Given the description of an element on the screen output the (x, y) to click on. 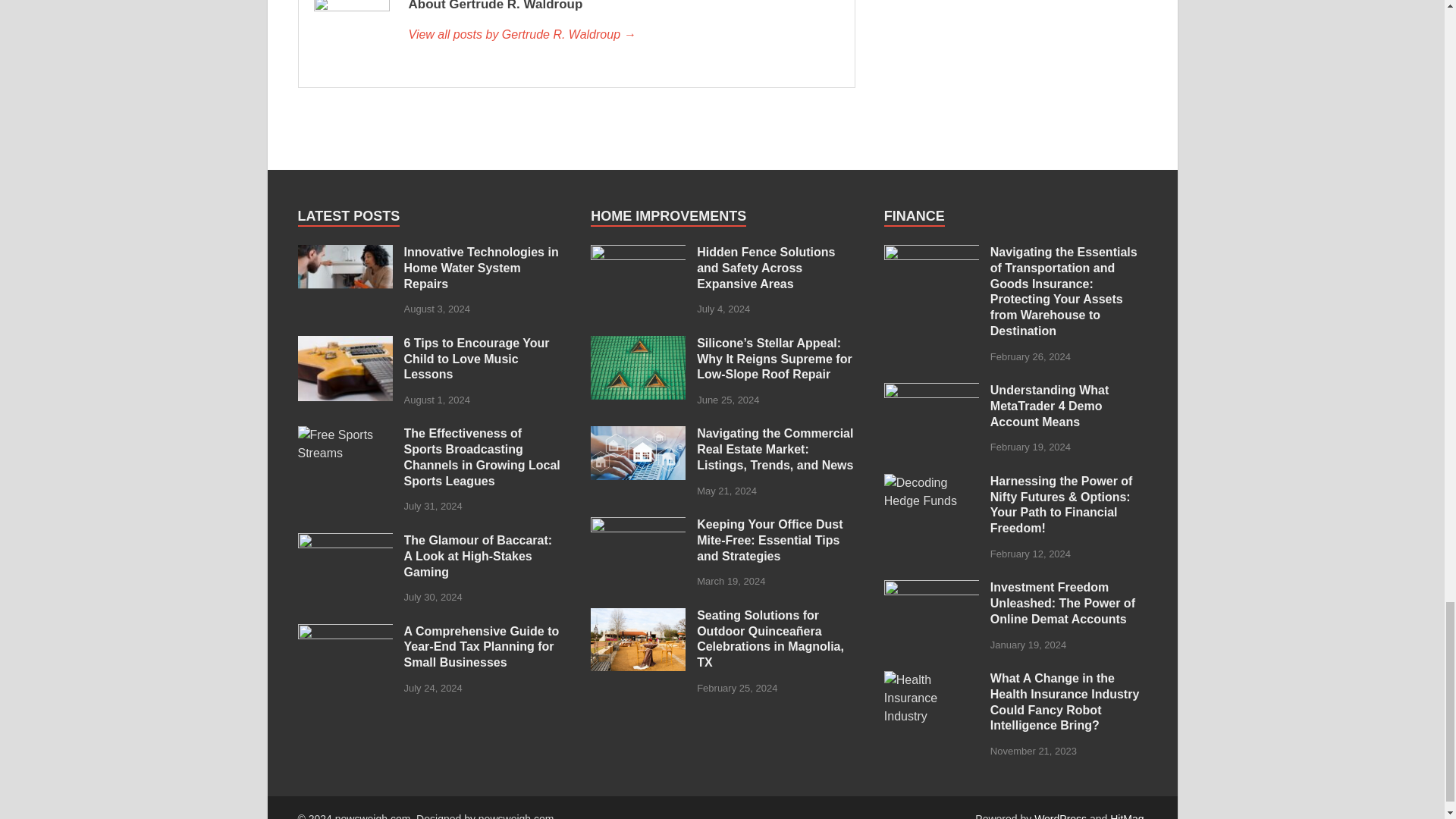
Gertrude R. Waldroup (622, 34)
